Given the description of an element on the screen output the (x, y) to click on. 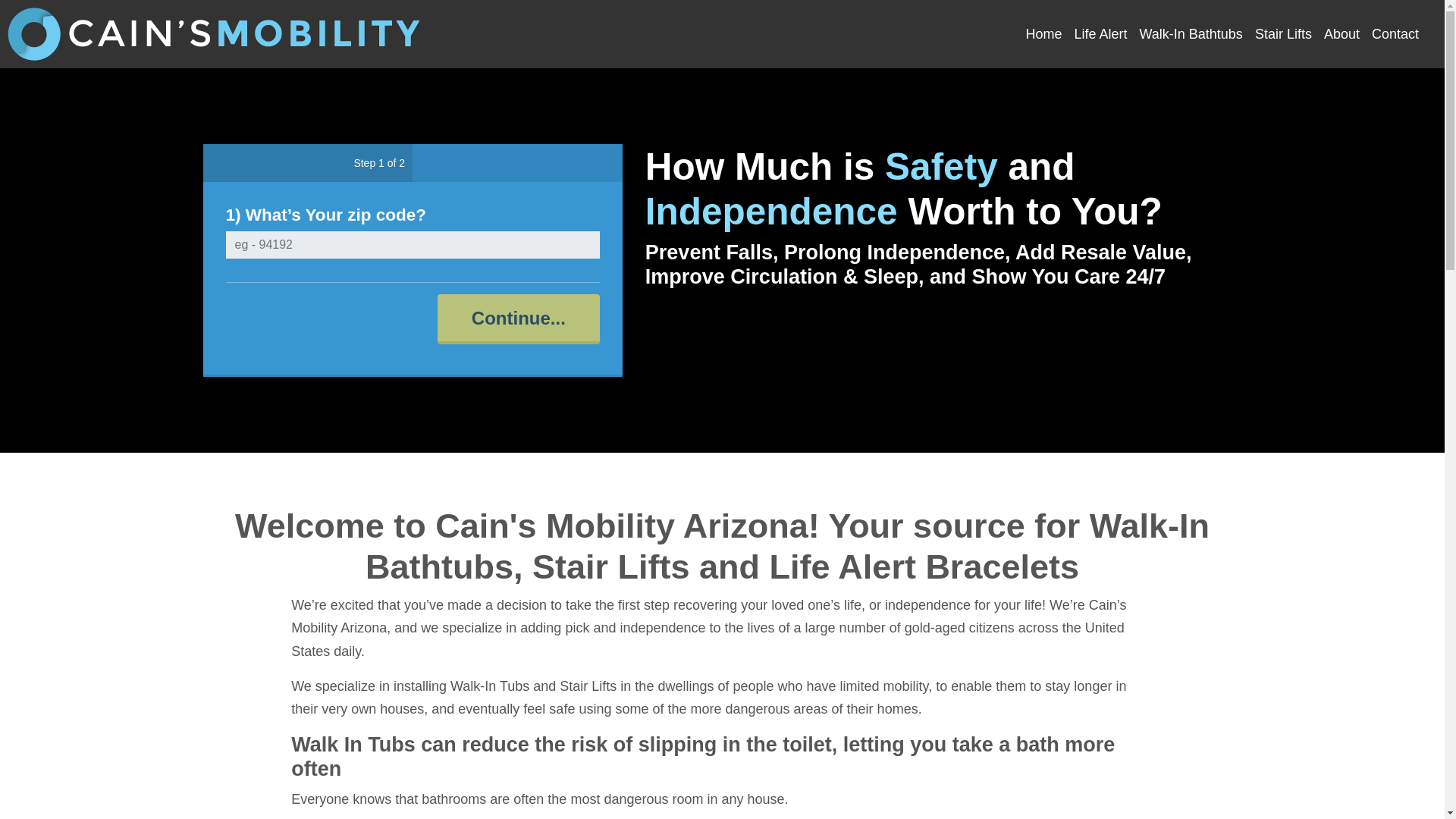
Continue... (518, 318)
Contact (1395, 34)
Home (1043, 34)
Stair Lifts (1283, 34)
About (1341, 34)
Walk-In Bathtubs (1189, 34)
Life Alert (1099, 34)
Cain's Mobility Arizona (215, 33)
Stair Lifts (1283, 34)
About (1341, 34)
